Given the description of an element on the screen output the (x, y) to click on. 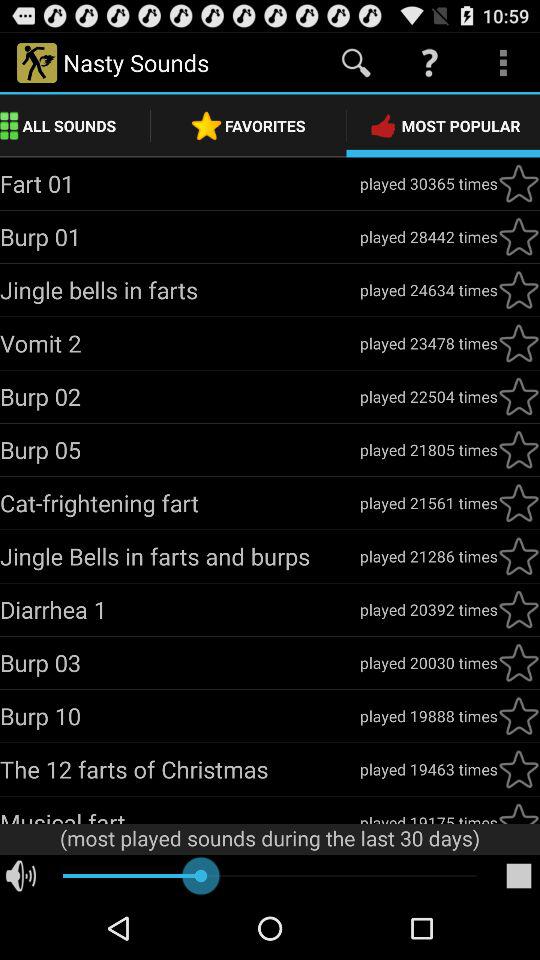
click to favorites option (519, 237)
